Given the description of an element on the screen output the (x, y) to click on. 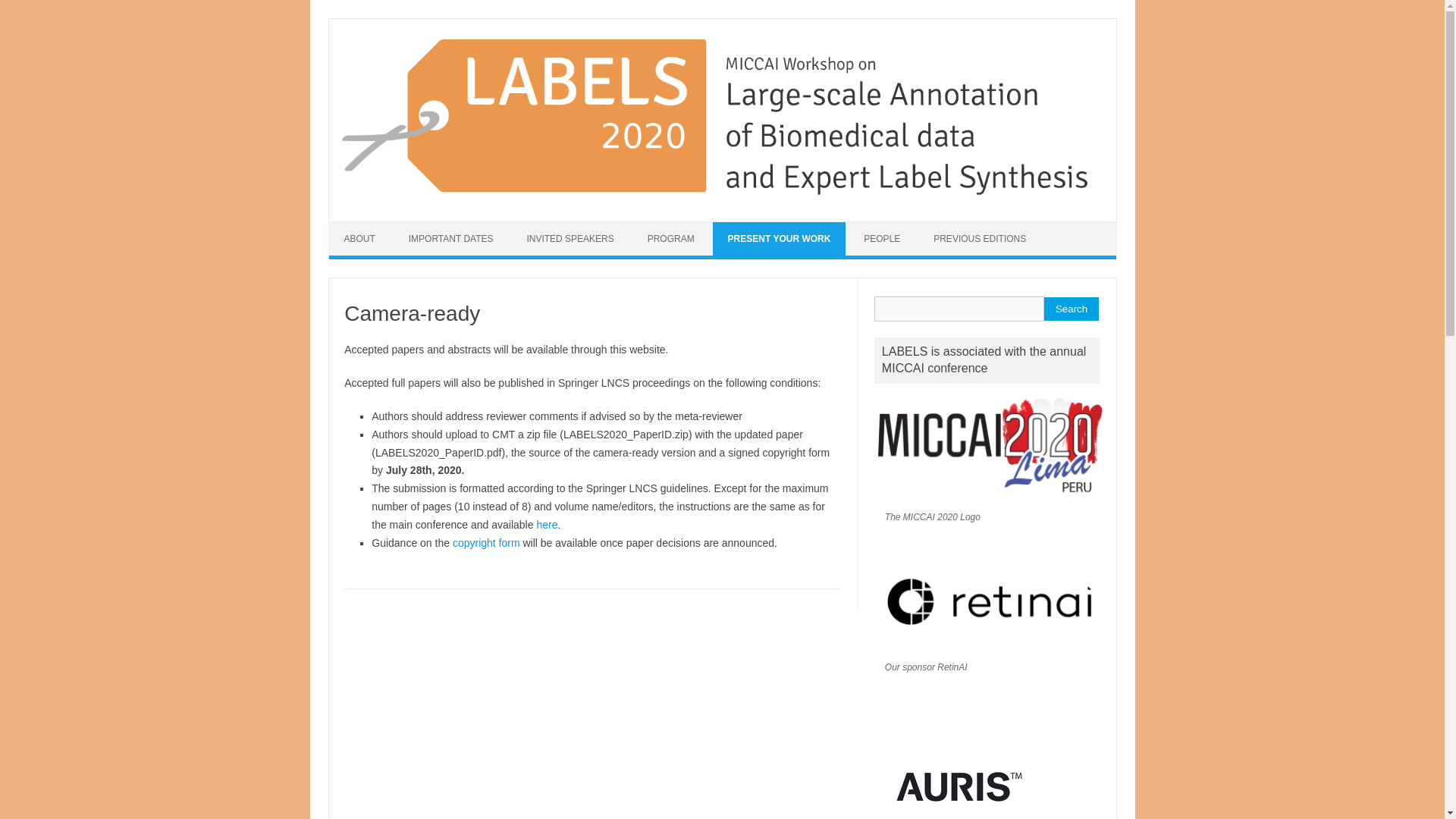
Skip to content (363, 226)
Skip to content (363, 226)
ABOUT (359, 238)
INVITED SPEAKERS (569, 238)
PRESENT YOUR WORK (779, 238)
Search (1070, 309)
Search (1070, 309)
PEOPLE (881, 238)
here (546, 524)
PROGRAM (670, 238)
IMPORTANT DATES (450, 238)
MICCAI LABELS (721, 195)
copyright form (485, 542)
PREVIOUS EDITIONS (979, 238)
